Given the description of an element on the screen output the (x, y) to click on. 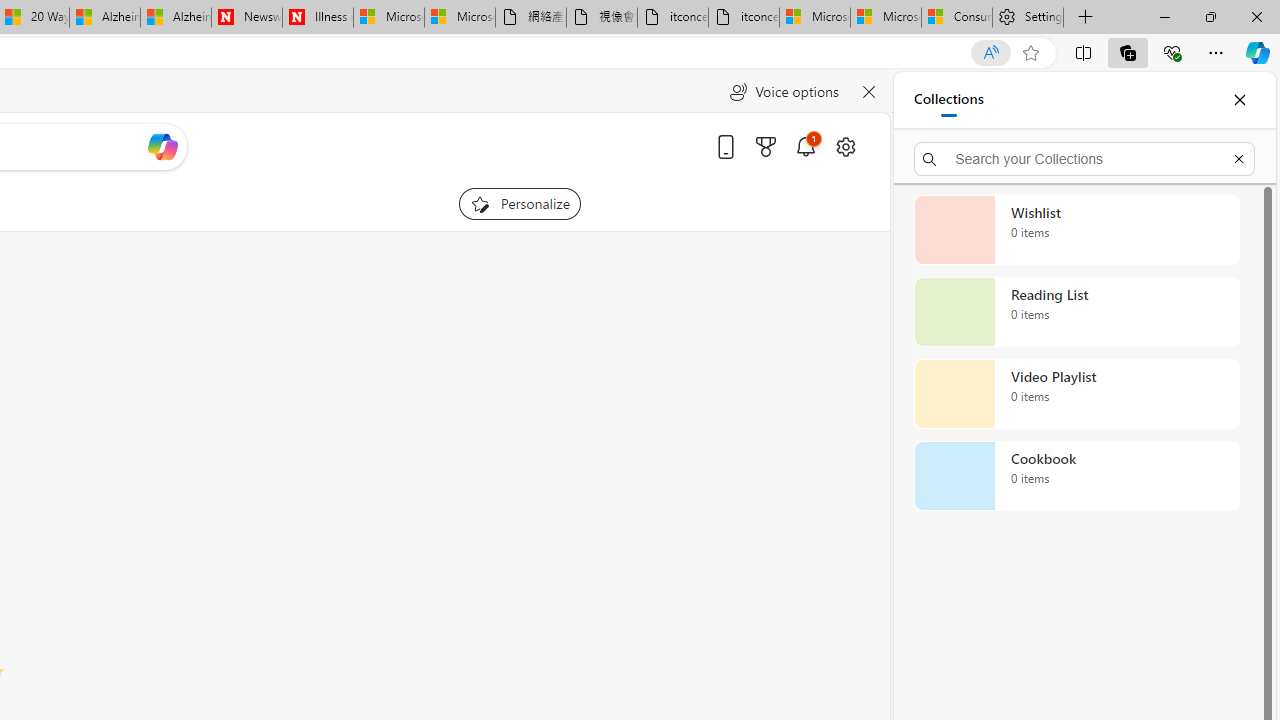
Voice options (783, 92)
Reading List collection, 0 items (1076, 312)
Search your Collections (1084, 158)
Close read aloud (868, 92)
Cookbook collection, 0 items (1076, 475)
itconcepthk.com/projector_solutions.mp4 (744, 17)
Consumer Health Data Privacy Policy (956, 17)
